Given the description of an element on the screen output the (x, y) to click on. 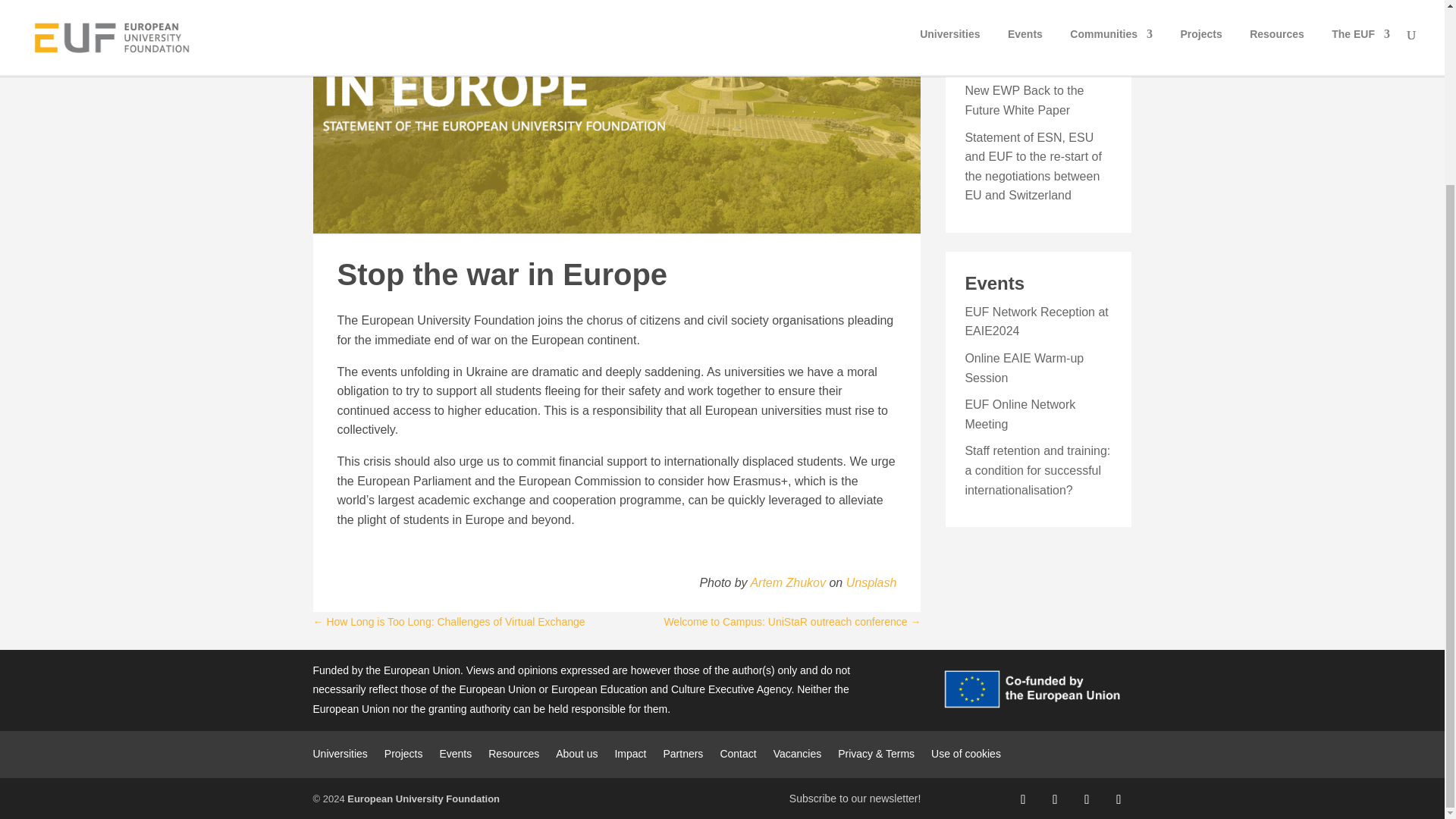
Artem Zhukov (787, 582)
Follow on LinkedIn (1086, 800)
A refreshing week for change at the Open Space 2024 (1035, 44)
Follow on X (1054, 800)
EUF Goes to EAIE2024! (1029, 2)
Follow on Youtube (1118, 800)
Follow on Facebook (1022, 800)
Unsplash (870, 582)
